Given the description of an element on the screen output the (x, y) to click on. 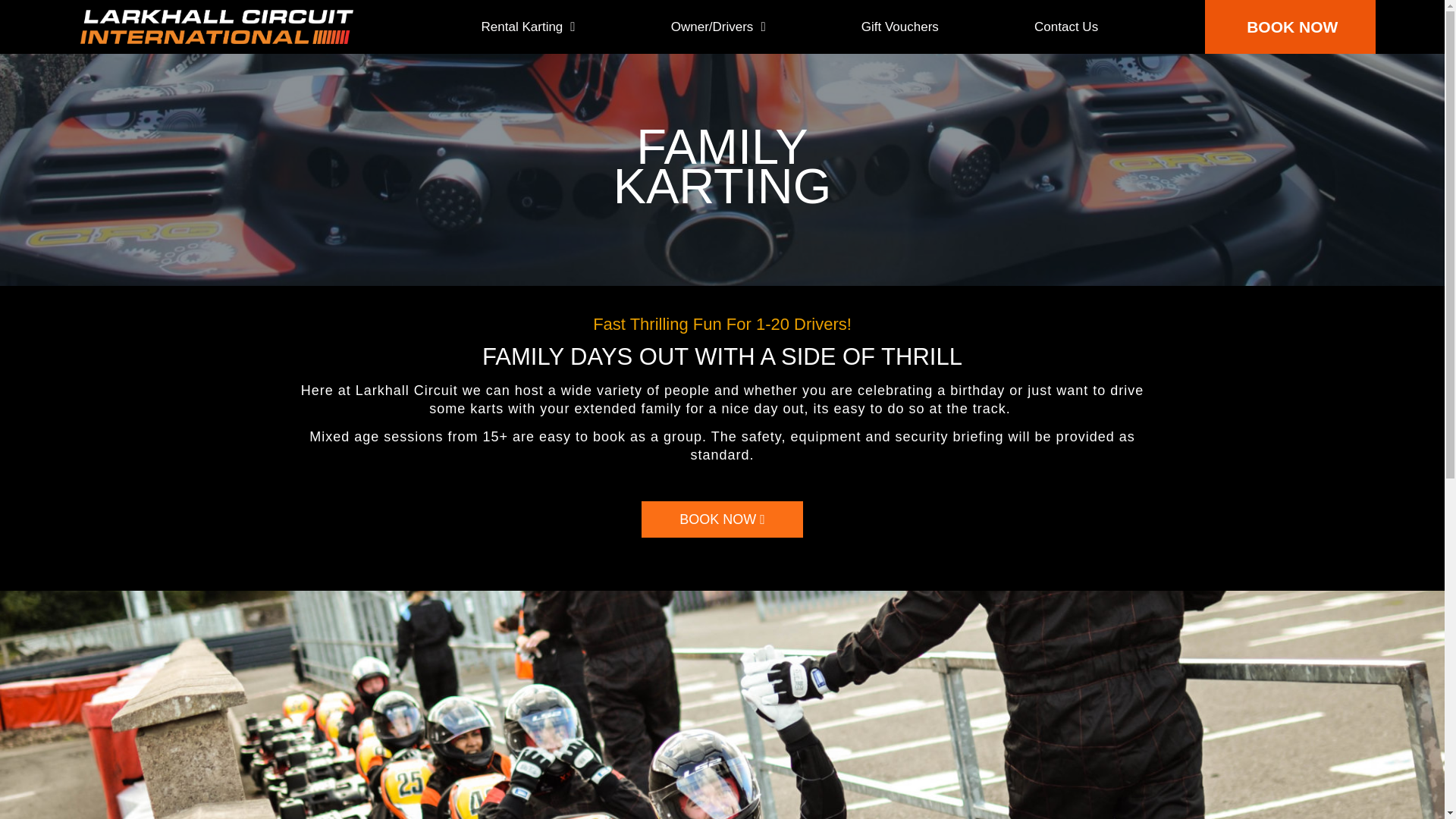
Rental Karting (528, 26)
Contact Us (1066, 26)
Gift Vouchers (900, 26)
BOOK NOW (1290, 27)
